Given the description of an element on the screen output the (x, y) to click on. 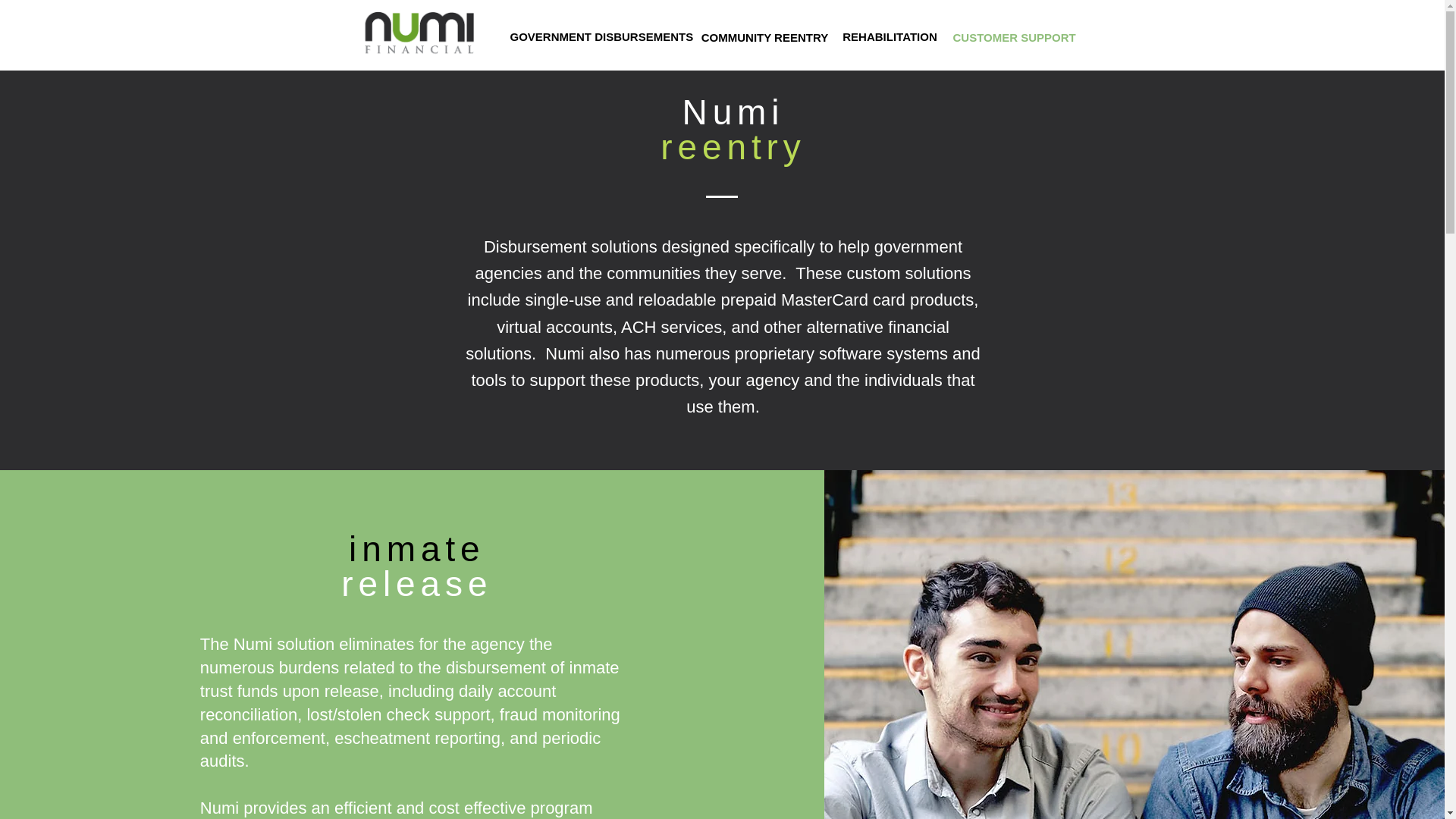
Numi Financial Logo (419, 33)
COMMUNITY REENTRY (764, 37)
CUSTOMER SUPPORT (1013, 37)
GOVERNMENT DISBURSEMENTS (600, 36)
REHABILITATION (889, 36)
